Given the description of an element on the screen output the (x, y) to click on. 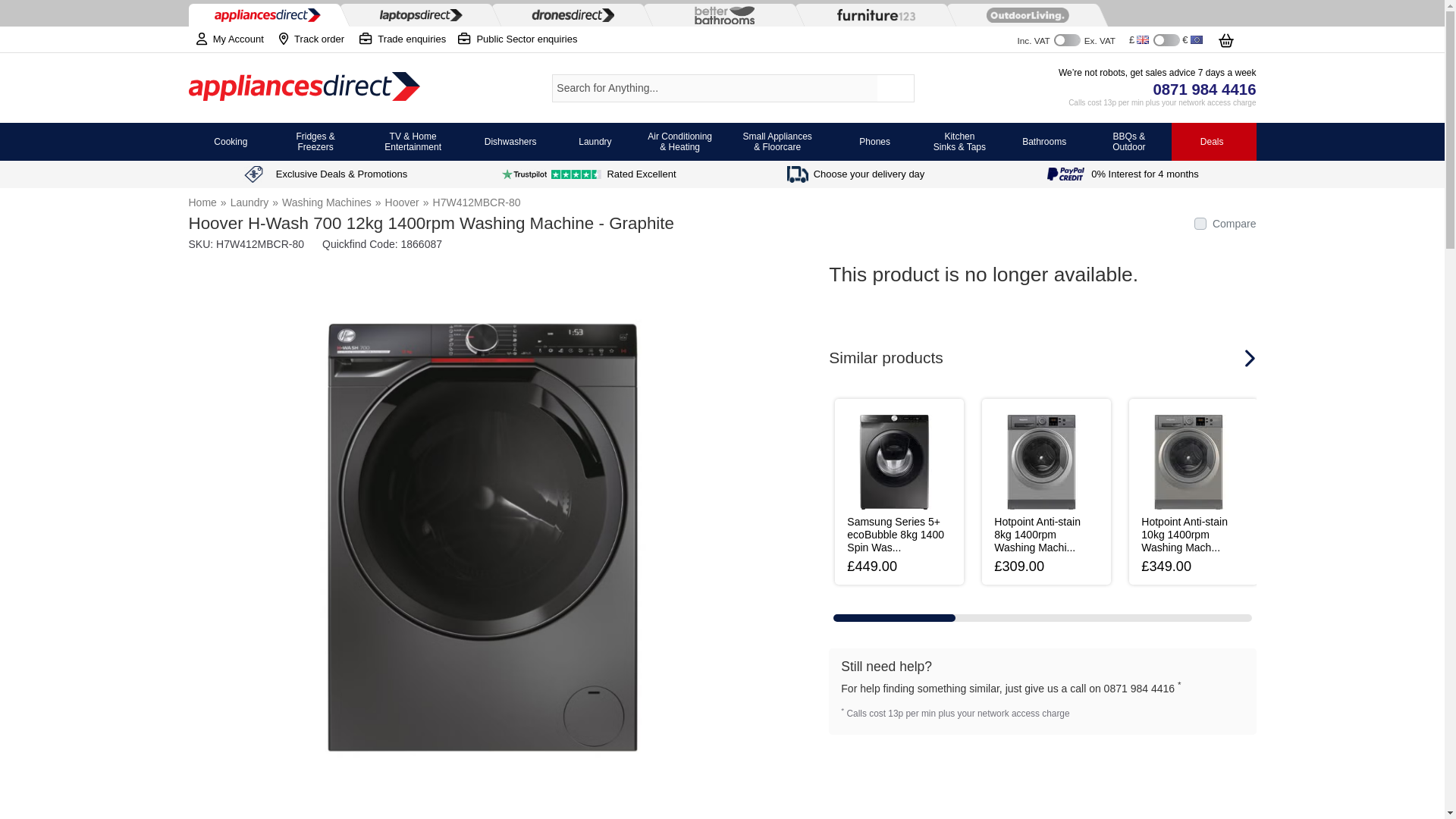
Furniture 123 (871, 14)
Appliances Direct (265, 15)
Search for Anything... (714, 88)
Your basket contains (1236, 37)
Outdoor Living (1024, 14)
Search (895, 88)
Appliances Direct (303, 88)
Better Bathrooms (720, 15)
My Account (225, 39)
Track order (311, 38)
Appliances Direct Order Tracking (311, 38)
Trade enquiries (402, 38)
